Given the description of an element on the screen output the (x, y) to click on. 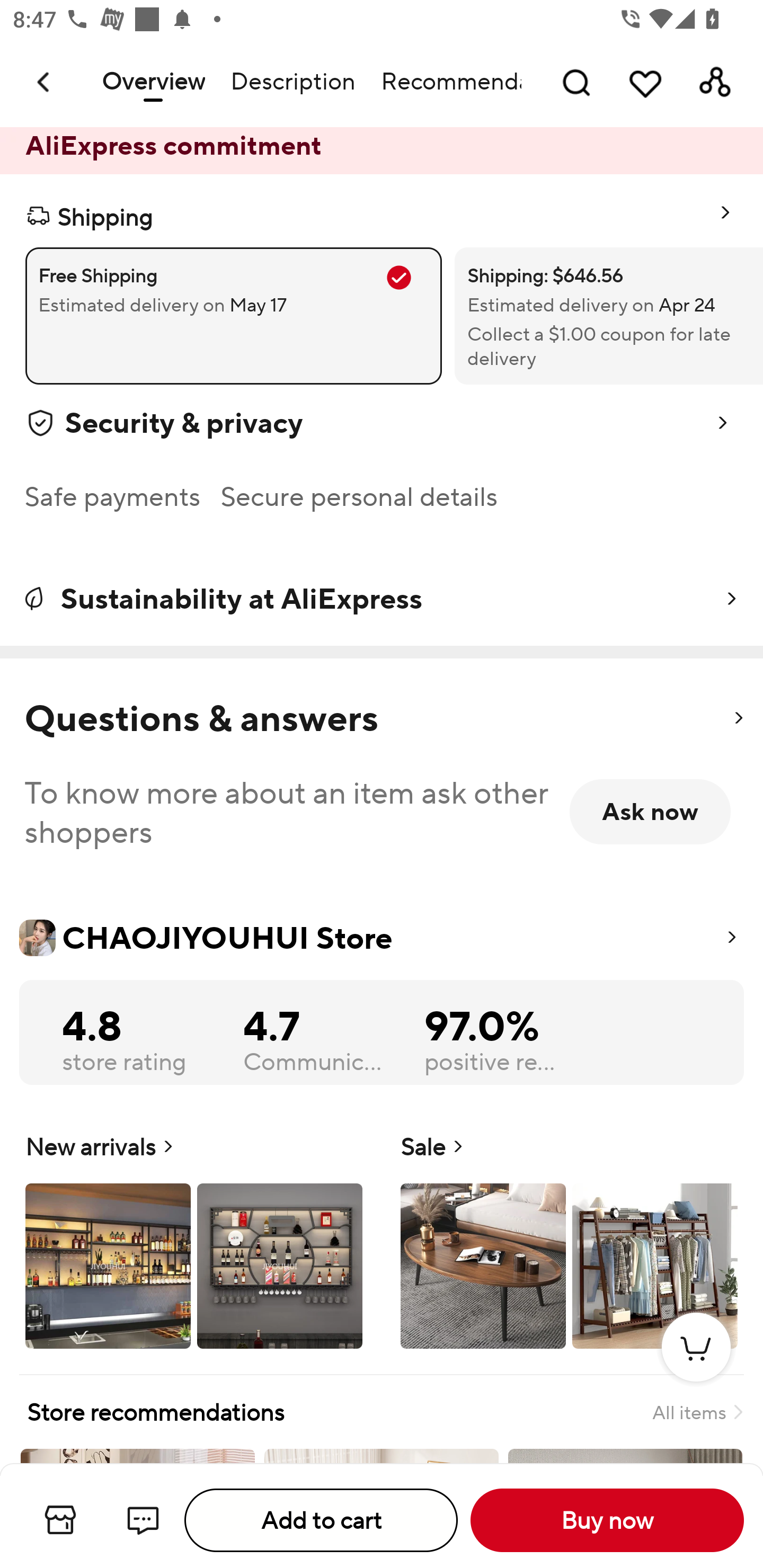
Navigate up (44, 82)
Description (292, 81)
Recommendations (444, 81)
Free Shipping  Estimated delivery on May 17  (233, 315)
Sustainability at AliExpress  (381, 598)
 (737, 717)
Ask now (649, 812)
New arrivals  (193, 1238)
Sale  (568, 1238)
All items (697, 1411)
Add to cart (320, 1520)
Buy now (606, 1520)
